Given the description of an element on the screen output the (x, y) to click on. 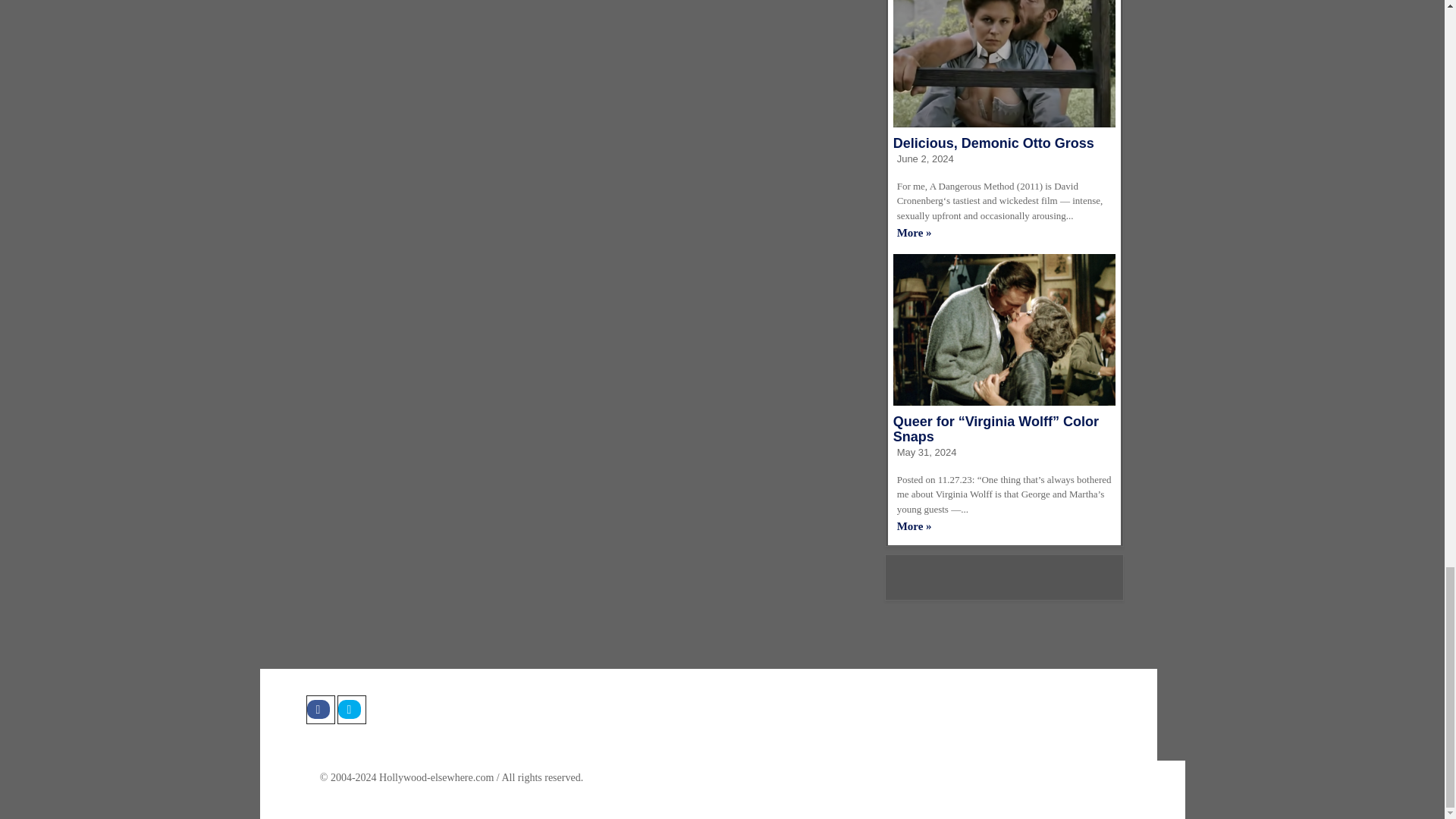
Facebook (319, 709)
Twitter (350, 709)
